Given the description of an element on the screen output the (x, y) to click on. 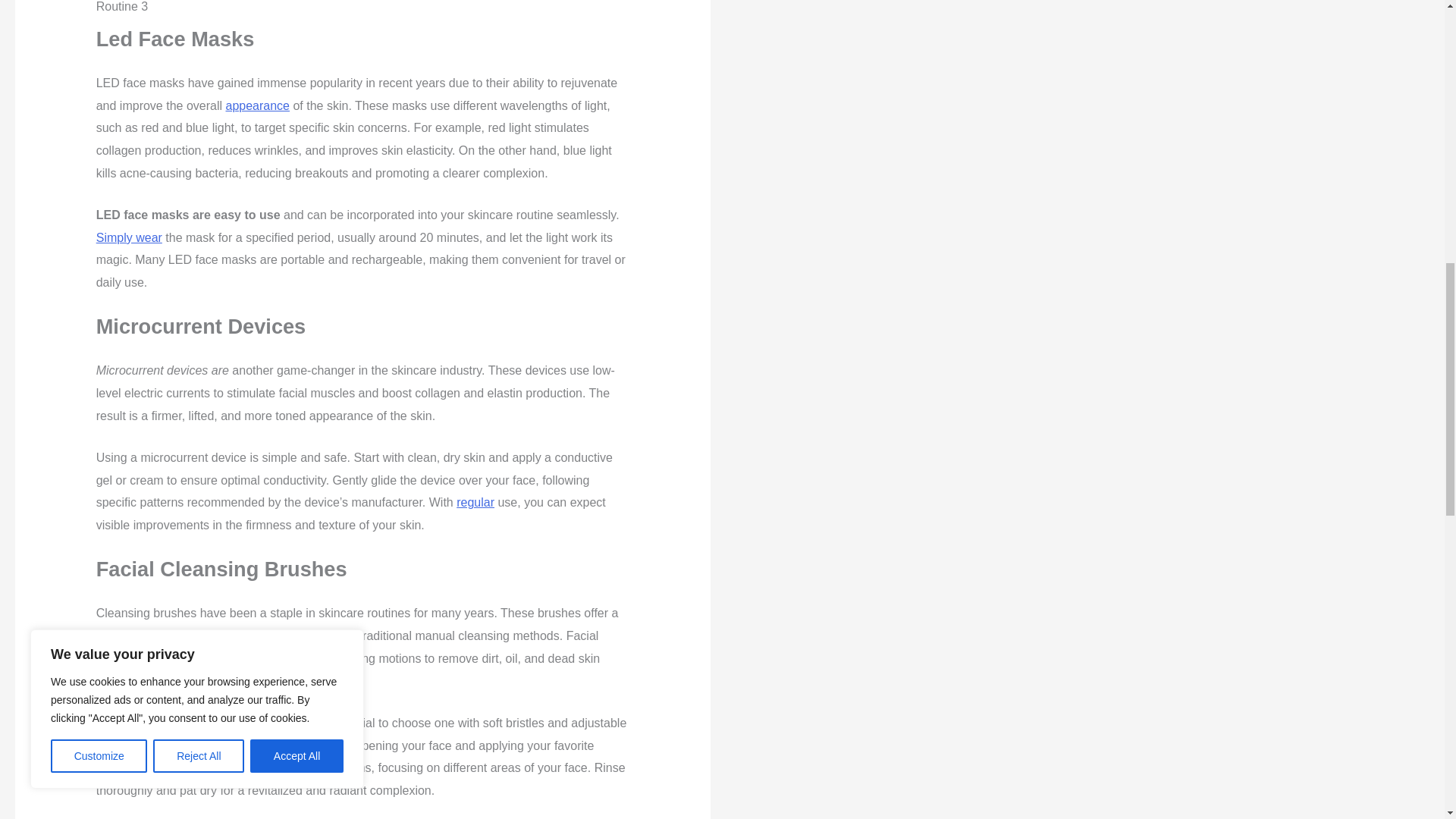
regular (476, 502)
appearance (257, 105)
Simply wear (128, 237)
